Given the description of an element on the screen output the (x, y) to click on. 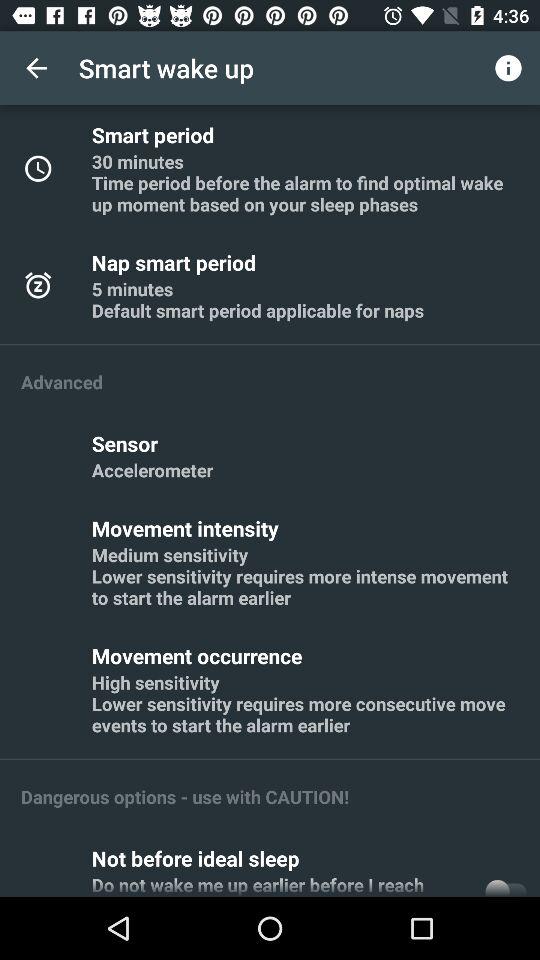
jump until dangerous options use (185, 796)
